Given the description of an element on the screen output the (x, y) to click on. 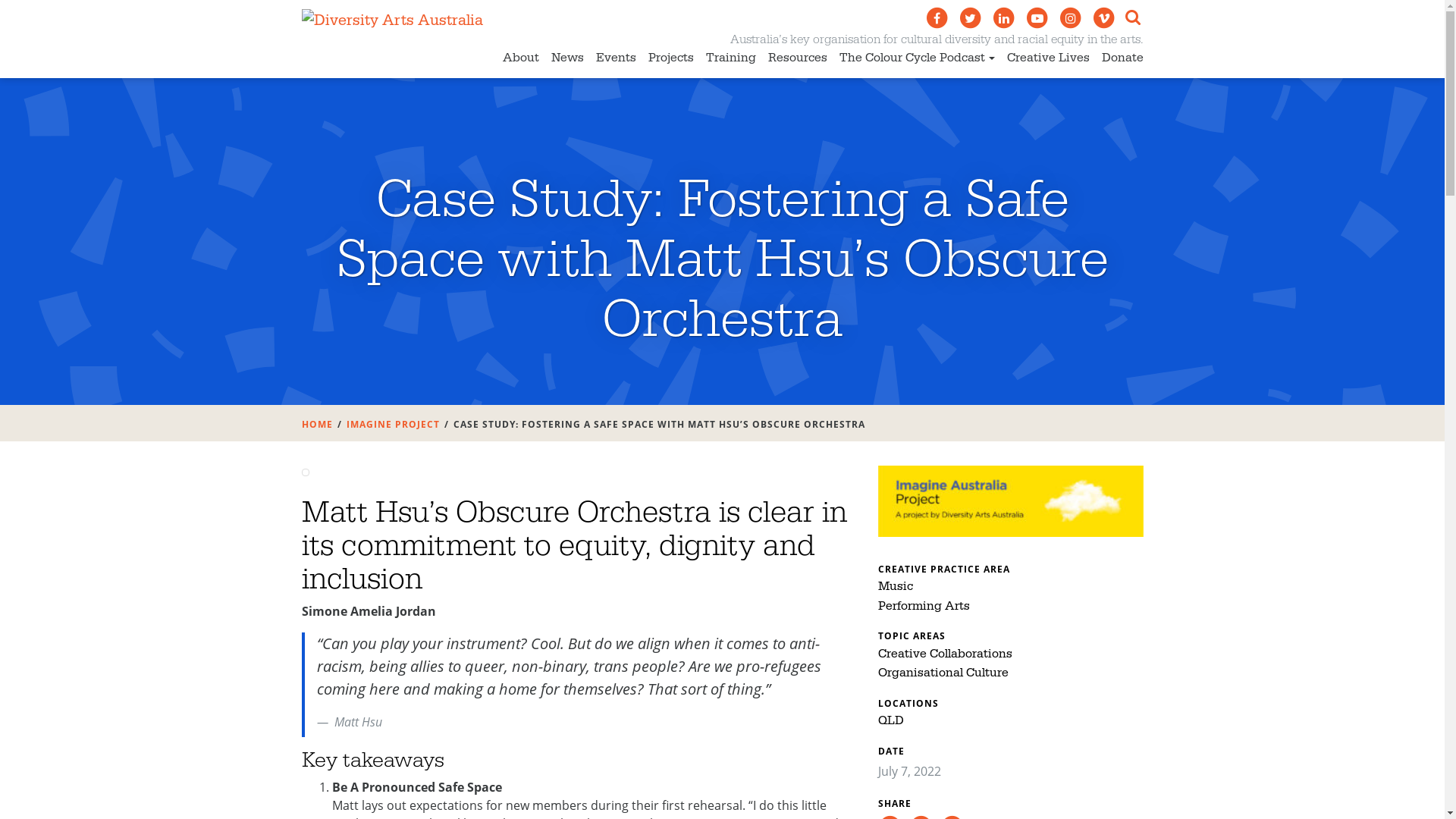
Projects Element type: text (670, 60)
Resources Element type: text (797, 60)
Diversity Arts Australia on Twitter Element type: hover (970, 18)
About Element type: text (520, 60)
Diversity Arts Australia on Facebook Element type: hover (937, 18)
Creative Lives Element type: text (1048, 60)
Events Element type: text (616, 60)
Donate Element type: text (1121, 60)
Training Element type: text (731, 60)
Diversity Arts Australia on LinkedIn Element type: hover (1003, 18)
Diversity Arts Australia on Instagram Element type: hover (1070, 18)
HOME Element type: text (316, 423)
IMAGINE PROJECT Element type: text (392, 423)
Diversity Arts Australia on Vimeo Element type: hover (1103, 18)
Diversity Arts Australia on Youtube Element type: hover (1037, 18)
News Element type: text (567, 60)
The Colour Cycle Podcast Element type: text (916, 60)
